Given the description of an element on the screen output the (x, y) to click on. 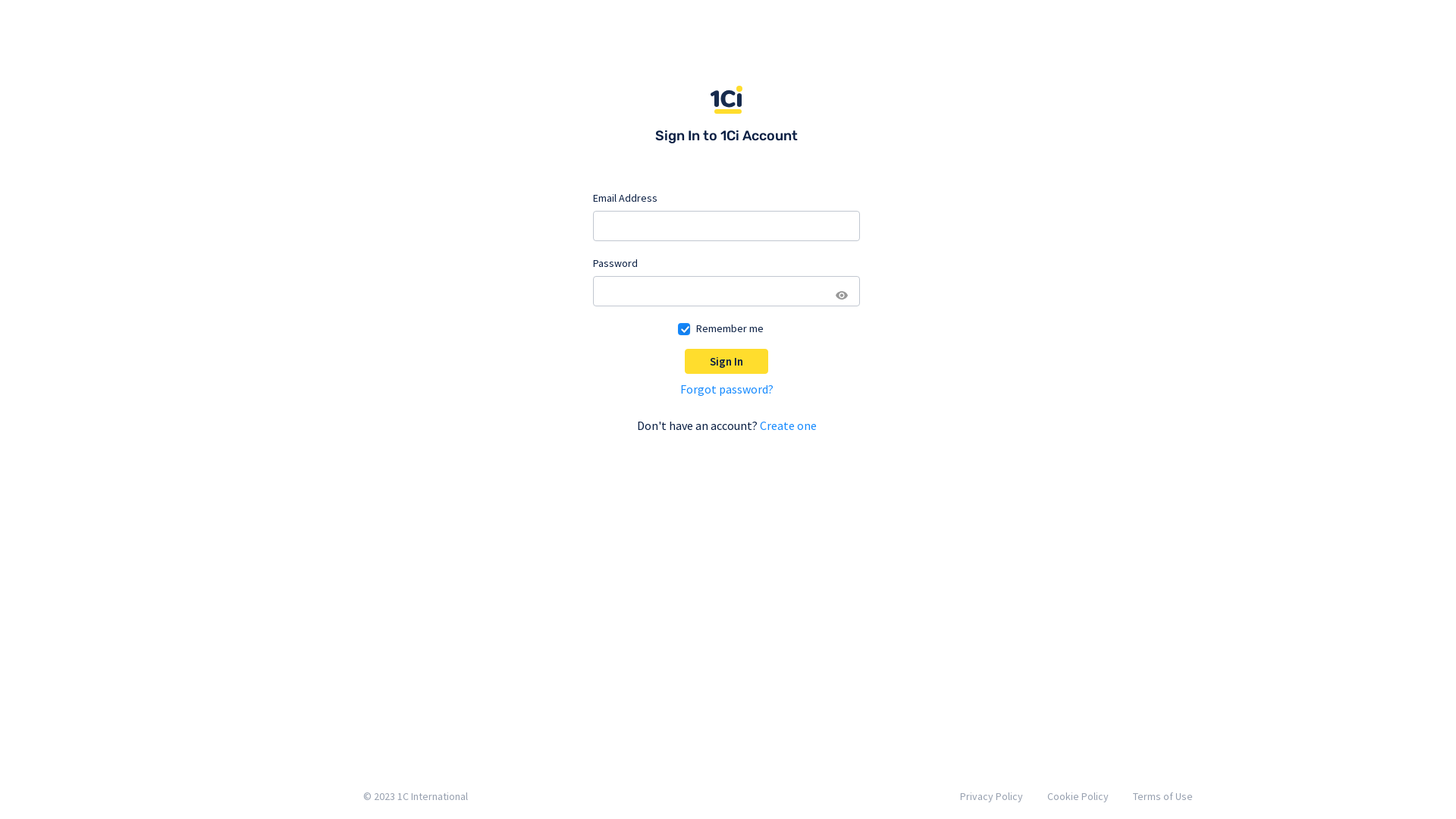
Sign In Element type: text (726, 360)
Create one Element type: text (787, 425)
Forgot password? Element type: text (725, 388)
